Given the description of an element on the screen output the (x, y) to click on. 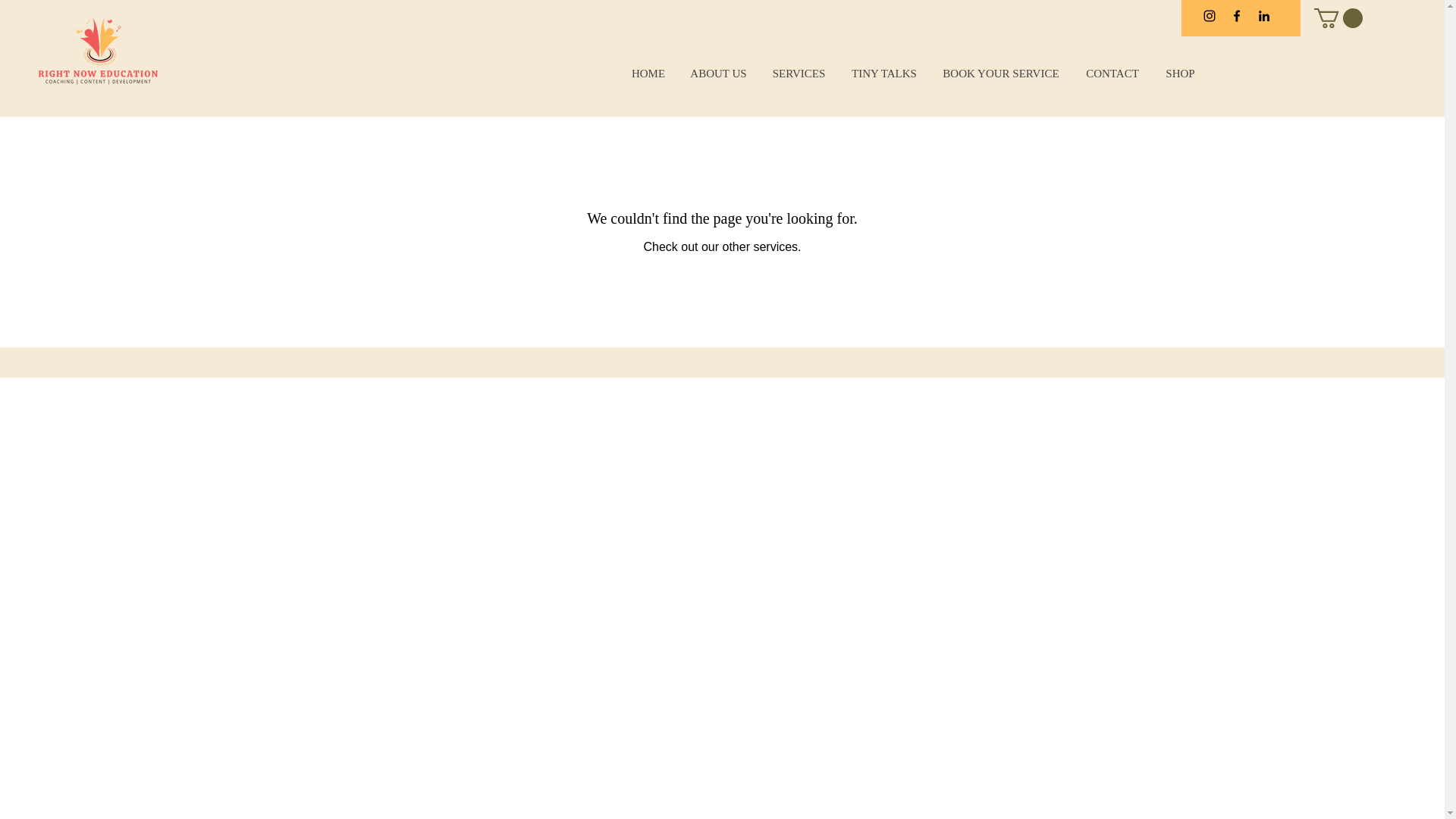
BOOK YOUR SERVICE (999, 73)
HOME (647, 73)
SERVICES (798, 73)
ABOUT US (718, 73)
TINY TALKS (883, 73)
SHOP (1179, 73)
CONTACT (1111, 73)
